Given the description of an element on the screen output the (x, y) to click on. 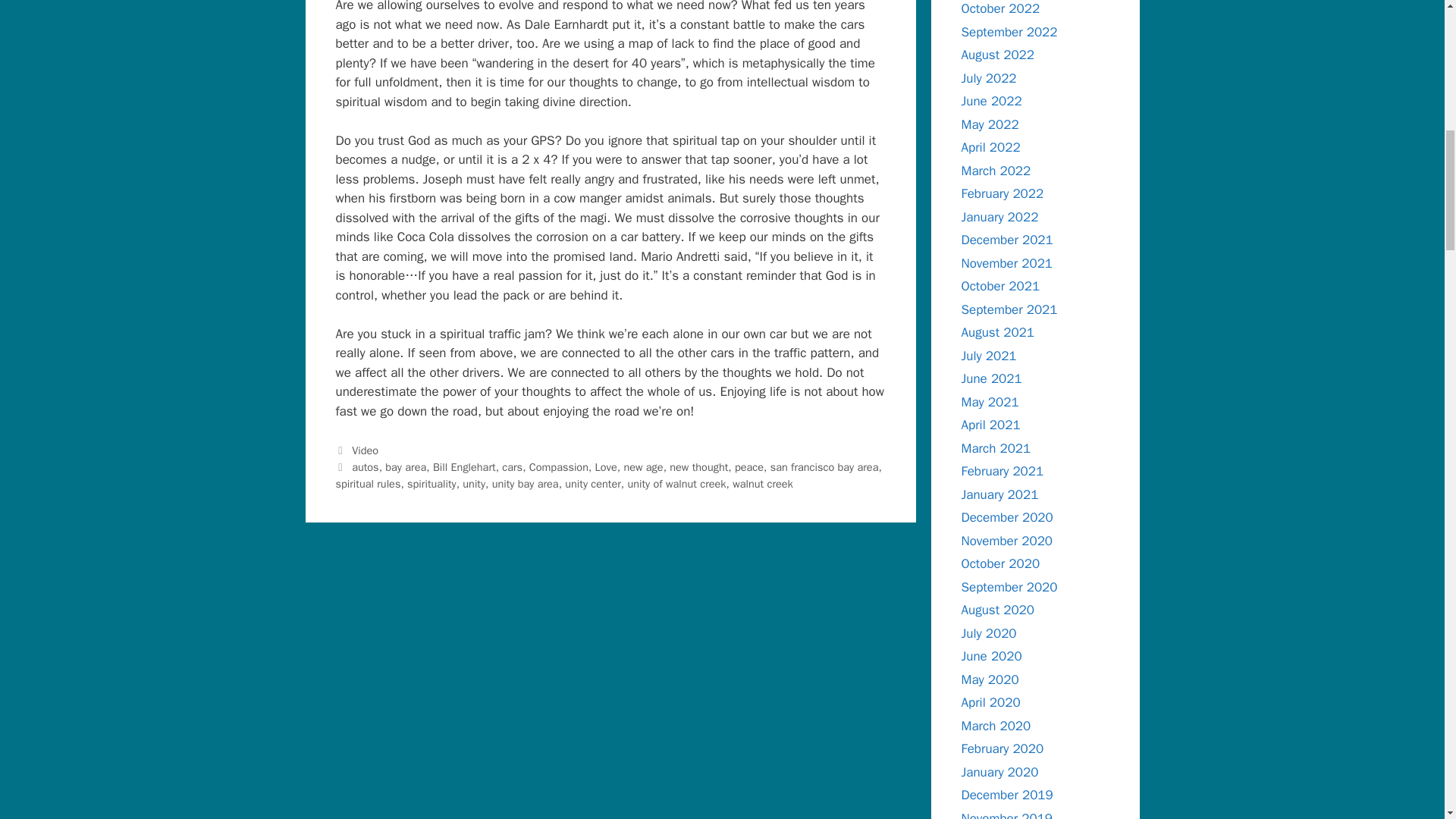
bay area (405, 467)
unity of walnut creek (676, 483)
Video (365, 450)
new thought (698, 467)
new age (642, 467)
Bill Englehart (464, 467)
walnut creek (762, 483)
Love (606, 467)
Compassion (558, 467)
san francisco bay area (824, 467)
spirituality (432, 483)
spiritual rules (367, 483)
unity bay area (525, 483)
unity (473, 483)
peace (748, 467)
